Given the description of an element on the screen output the (x, y) to click on. 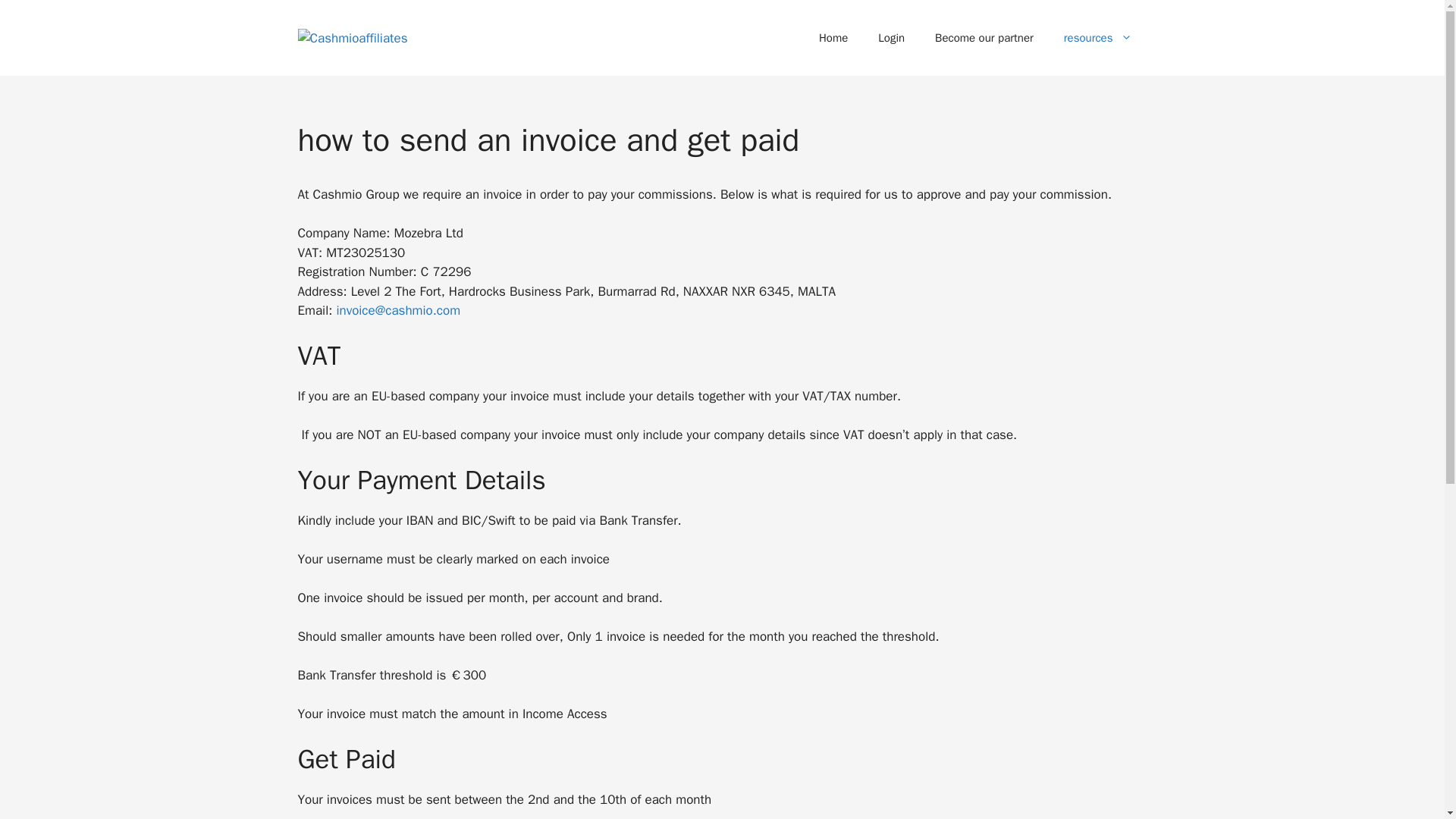
Login (891, 37)
Become our partner (984, 37)
Home (833, 37)
resources (1097, 37)
